Given the description of an element on the screen output the (x, y) to click on. 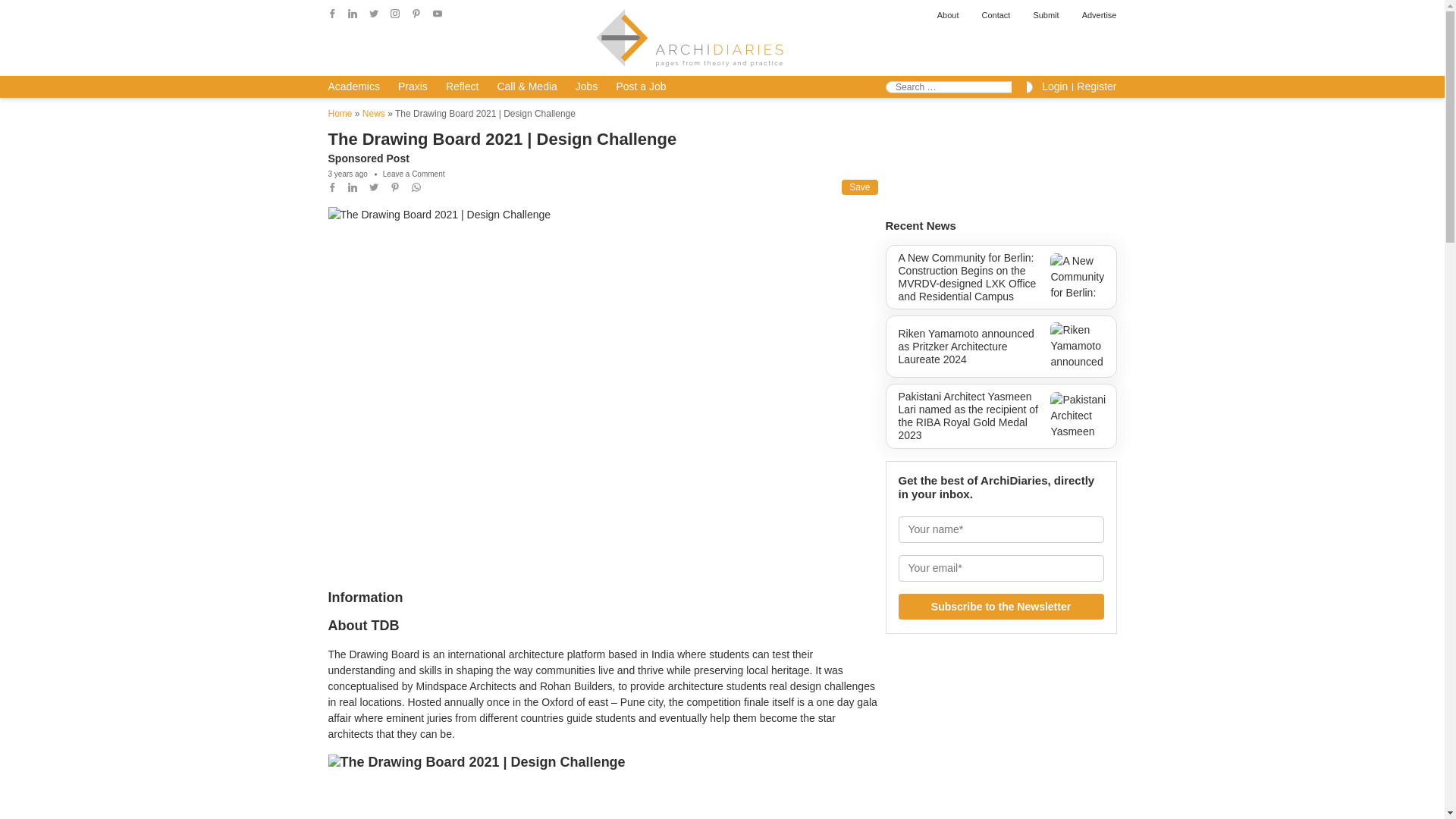
YouTube (437, 13)
Advertise (1098, 15)
Facebook (331, 13)
Subscribe to the Newsletter (1000, 606)
Pinterest (416, 13)
Login (1054, 86)
Search (1018, 86)
Jobs (586, 86)
